Given the description of an element on the screen output the (x, y) to click on. 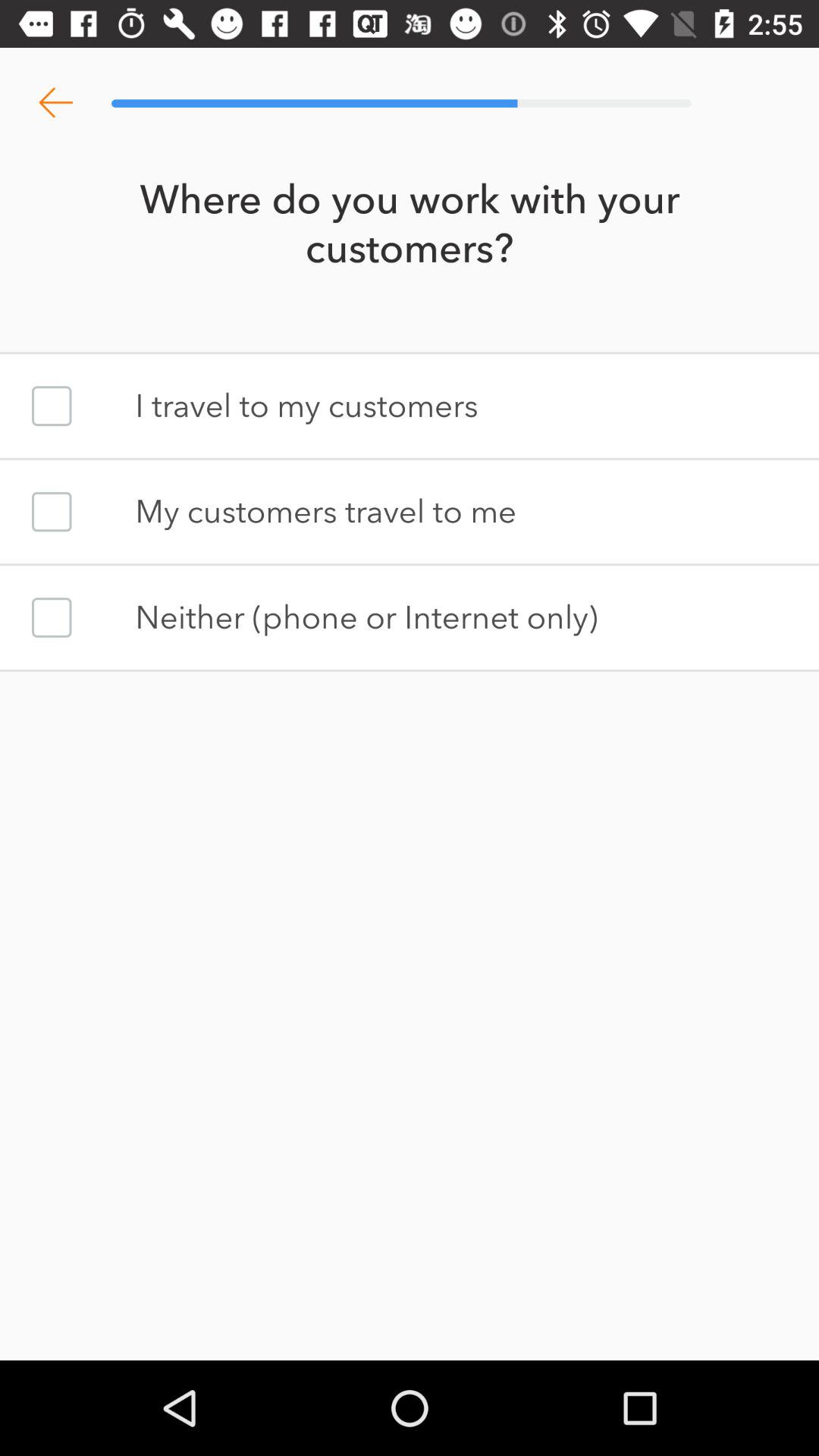
go back (55, 103)
